Given the description of an element on the screen output the (x, y) to click on. 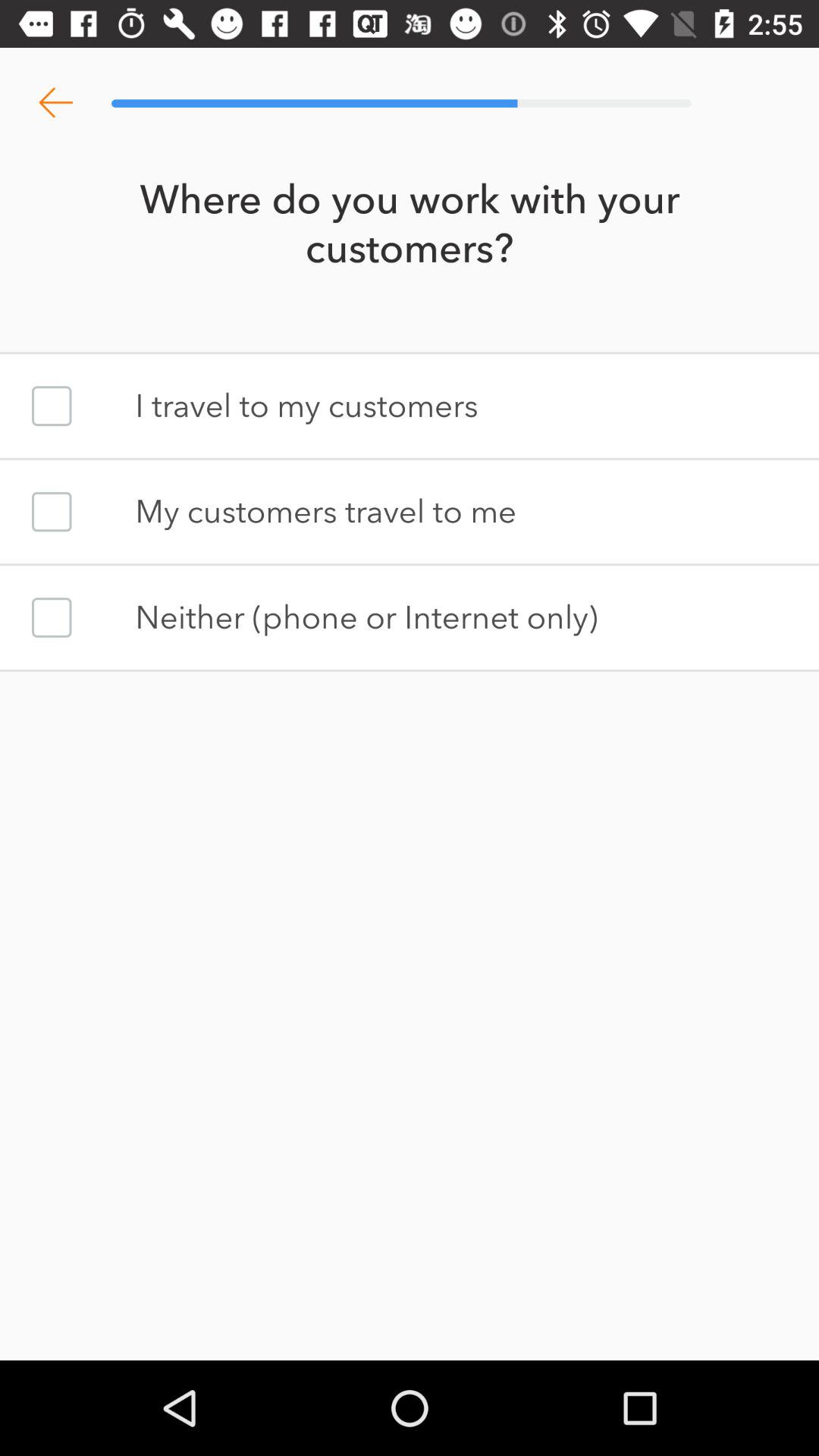
go back (55, 103)
